Given the description of an element on the screen output the (x, y) to click on. 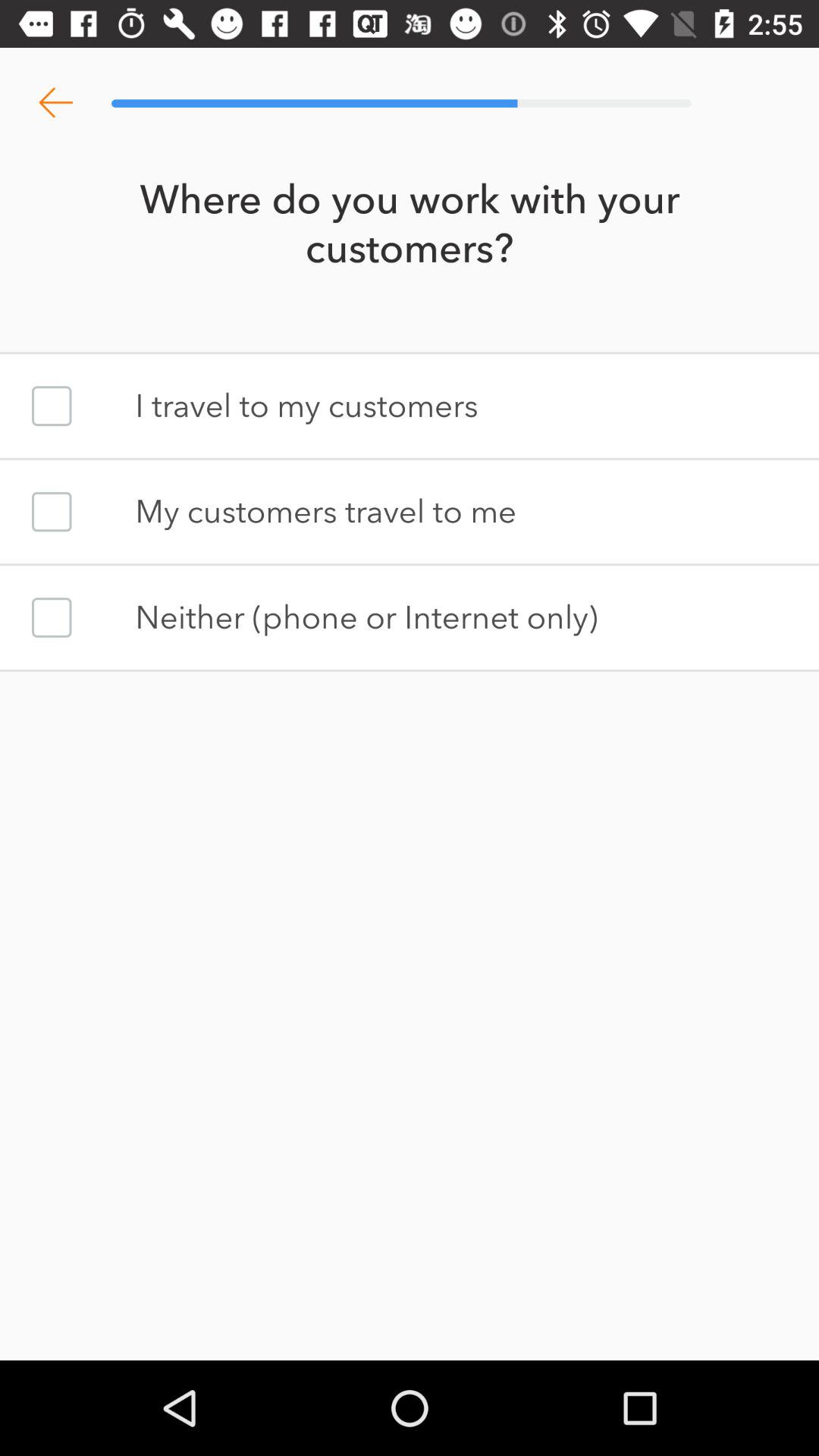
go back (55, 103)
